Given the description of an element on the screen output the (x, y) to click on. 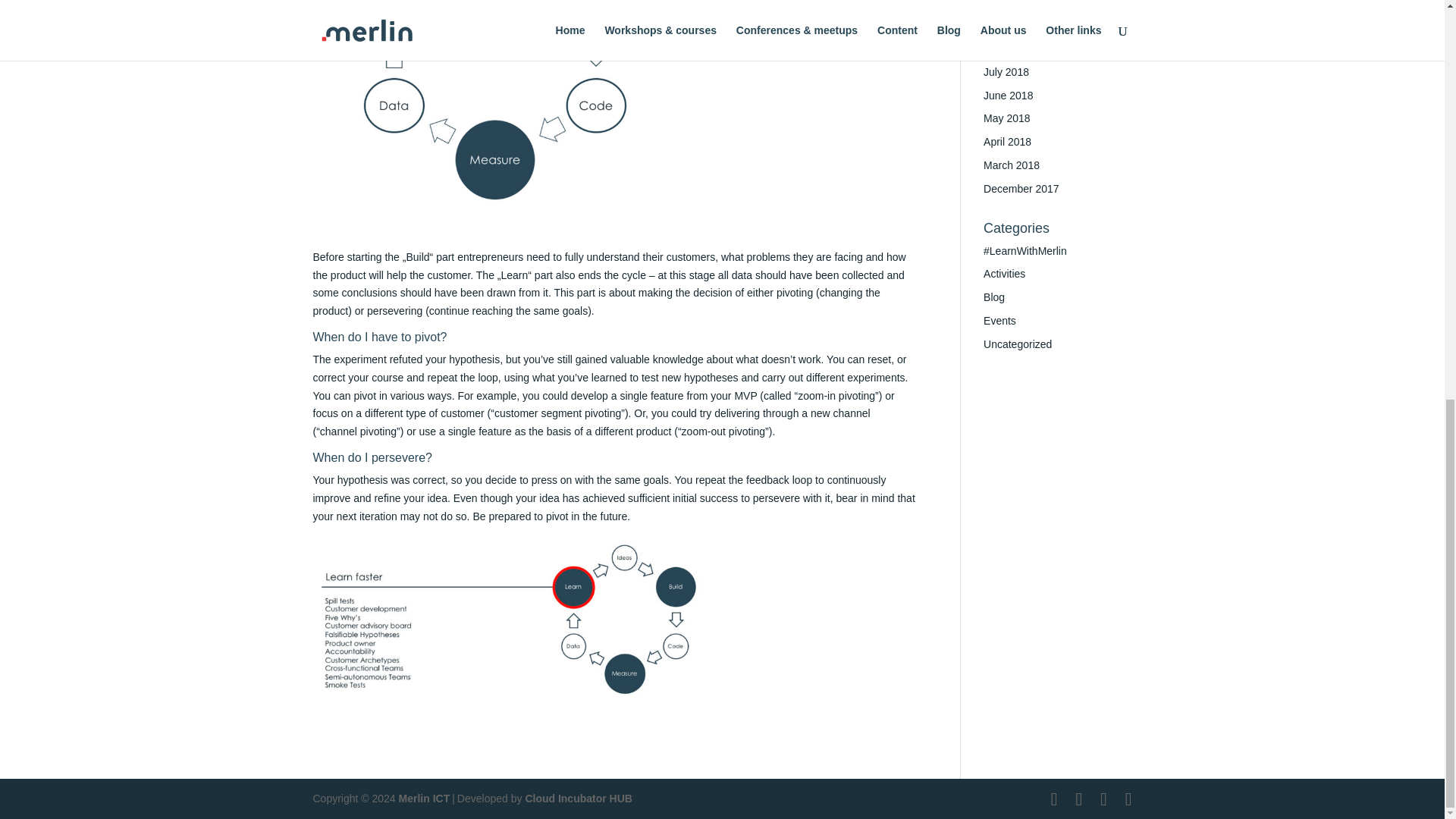
September 2018 (1023, 48)
October 2018 (1016, 24)
November 2018 (1021, 3)
